Given the description of an element on the screen output the (x, y) to click on. 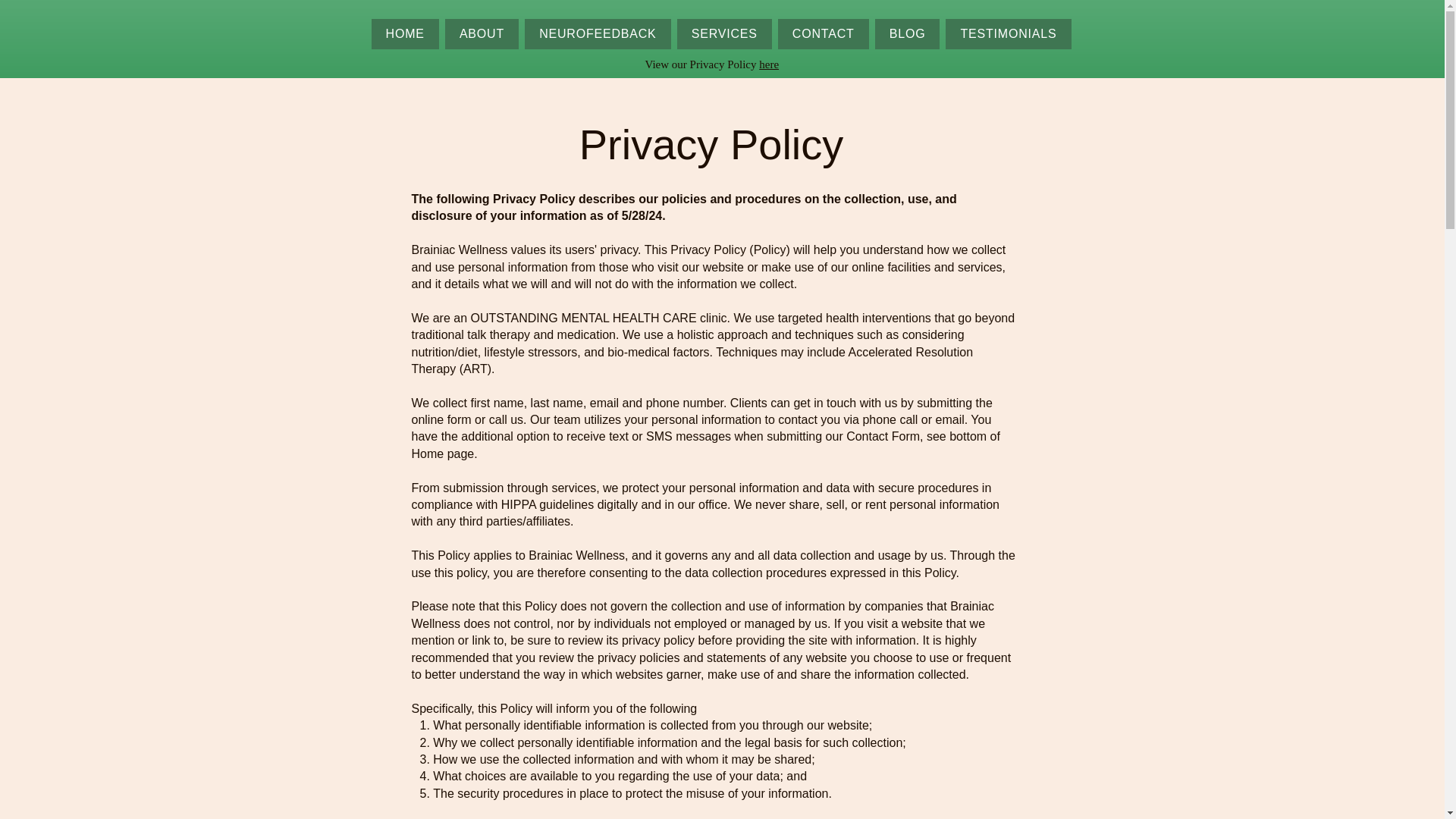
BLOG (907, 33)
NEUROFEEDBACK (597, 33)
TESTIMONIALS (1007, 33)
SERVICES (724, 33)
CONTACT (823, 33)
here (768, 64)
ABOUT (481, 33)
HOME (405, 33)
